Given the description of an element on the screen output the (x, y) to click on. 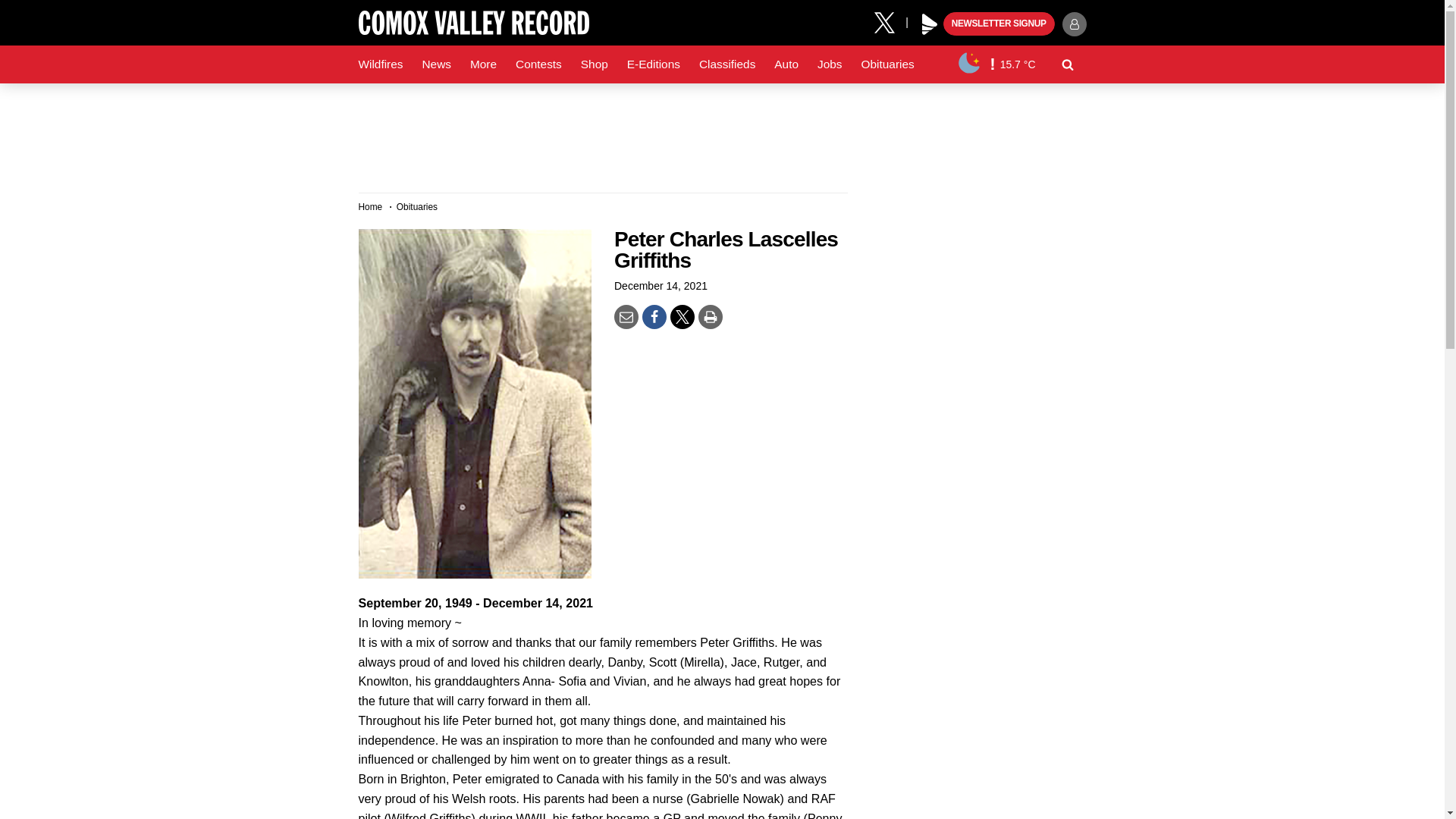
Play (929, 24)
X (889, 21)
Wildfires (380, 64)
Black Press Media (929, 24)
News (435, 64)
NEWSLETTER SIGNUP (998, 24)
